Given the description of an element on the screen output the (x, y) to click on. 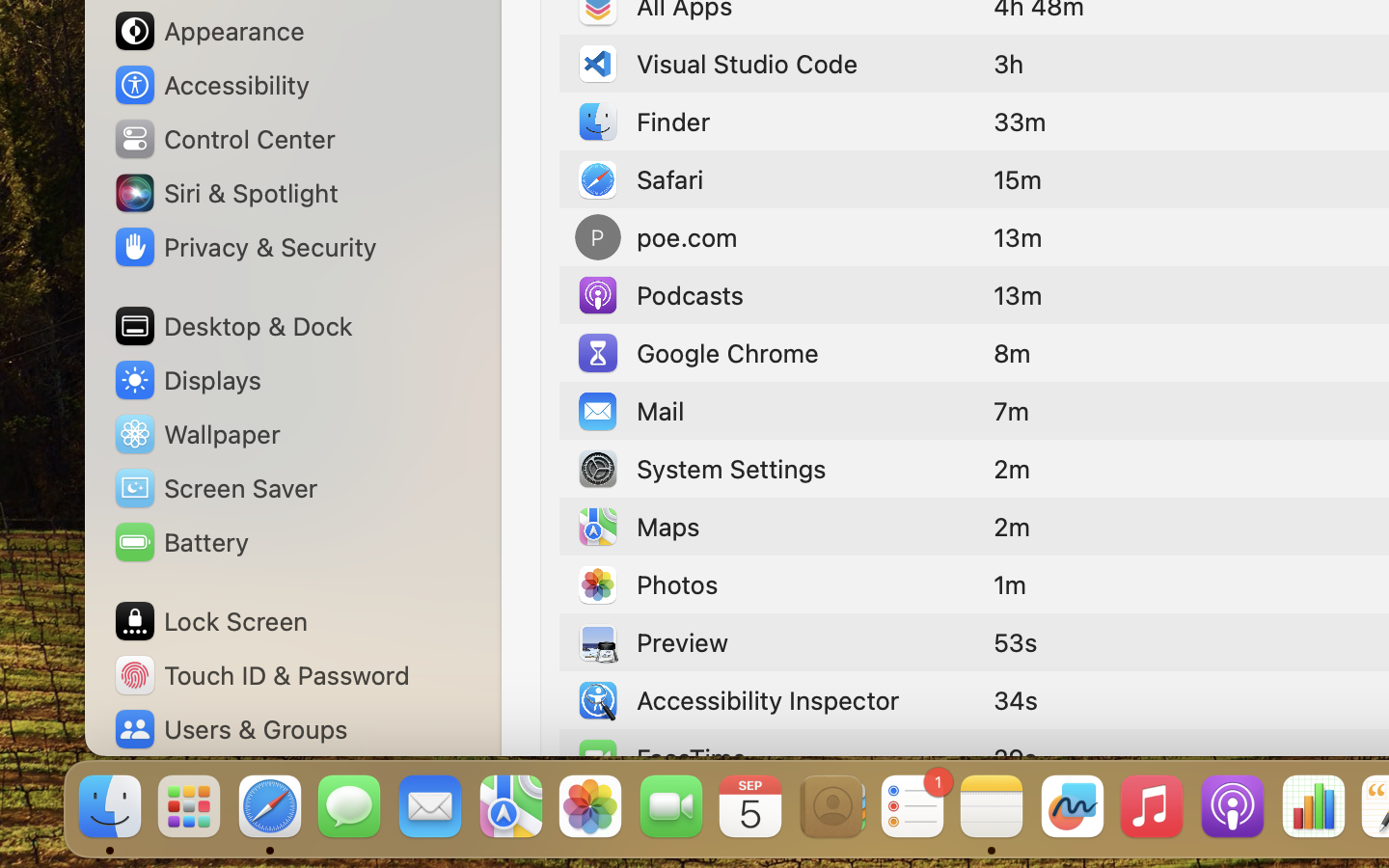
Screen Saver Element type: AXStaticText (214, 487)
FaceTime Element type: AXStaticText (660, 757)
13m Element type: AXStaticText (1017, 294)
Siri & Spotlight Element type: AXStaticText (224, 192)
Privacy & Security Element type: AXStaticText (243, 246)
